Given the description of an element on the screen output the (x, y) to click on. 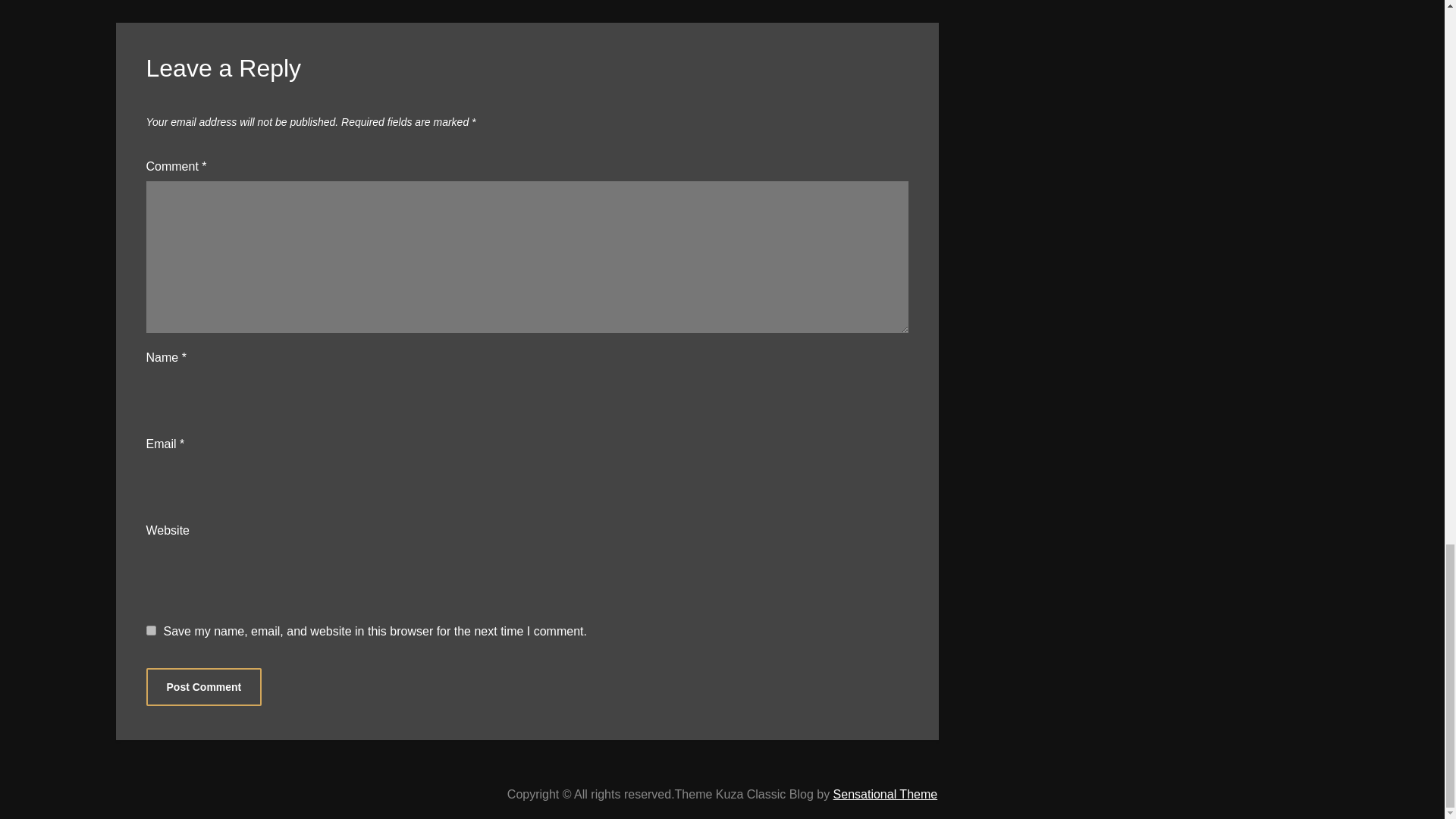
Post Comment (203, 686)
yes (150, 630)
